Given the description of an element on the screen output the (x, y) to click on. 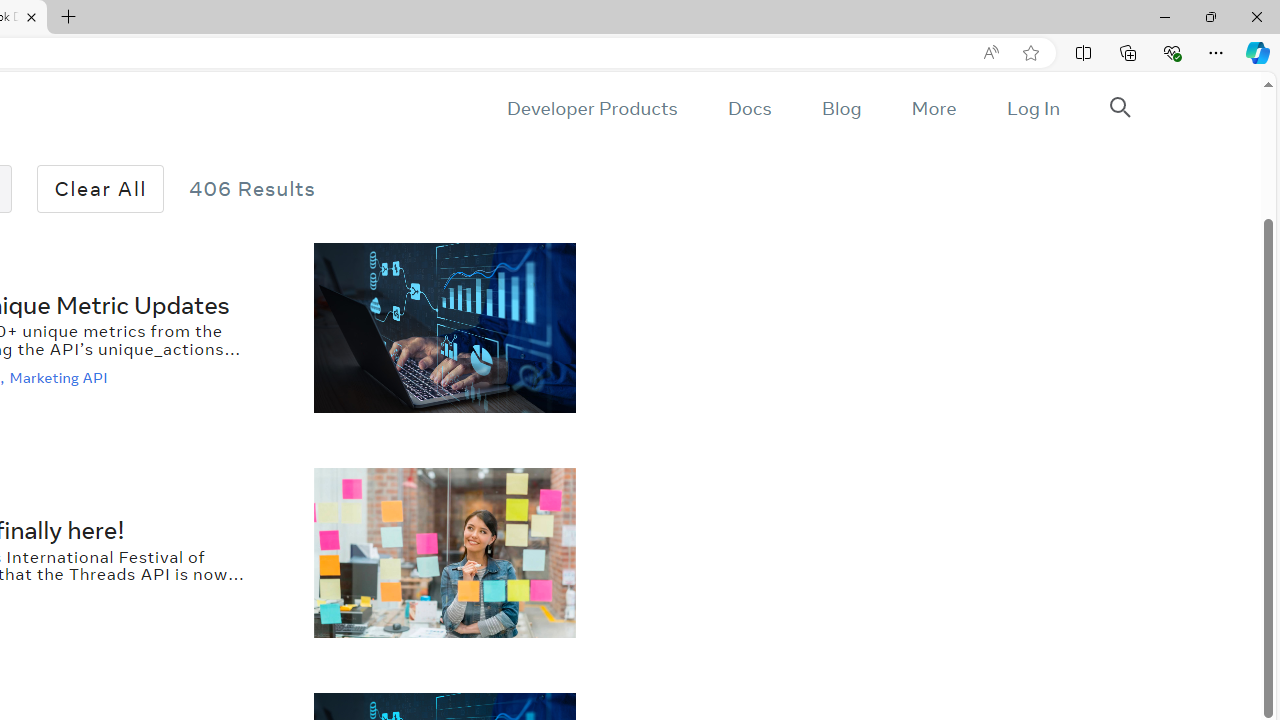
Blog (841, 108)
Log In (1032, 108)
Marketing API (60, 377)
